Given the description of an element on the screen output the (x, y) to click on. 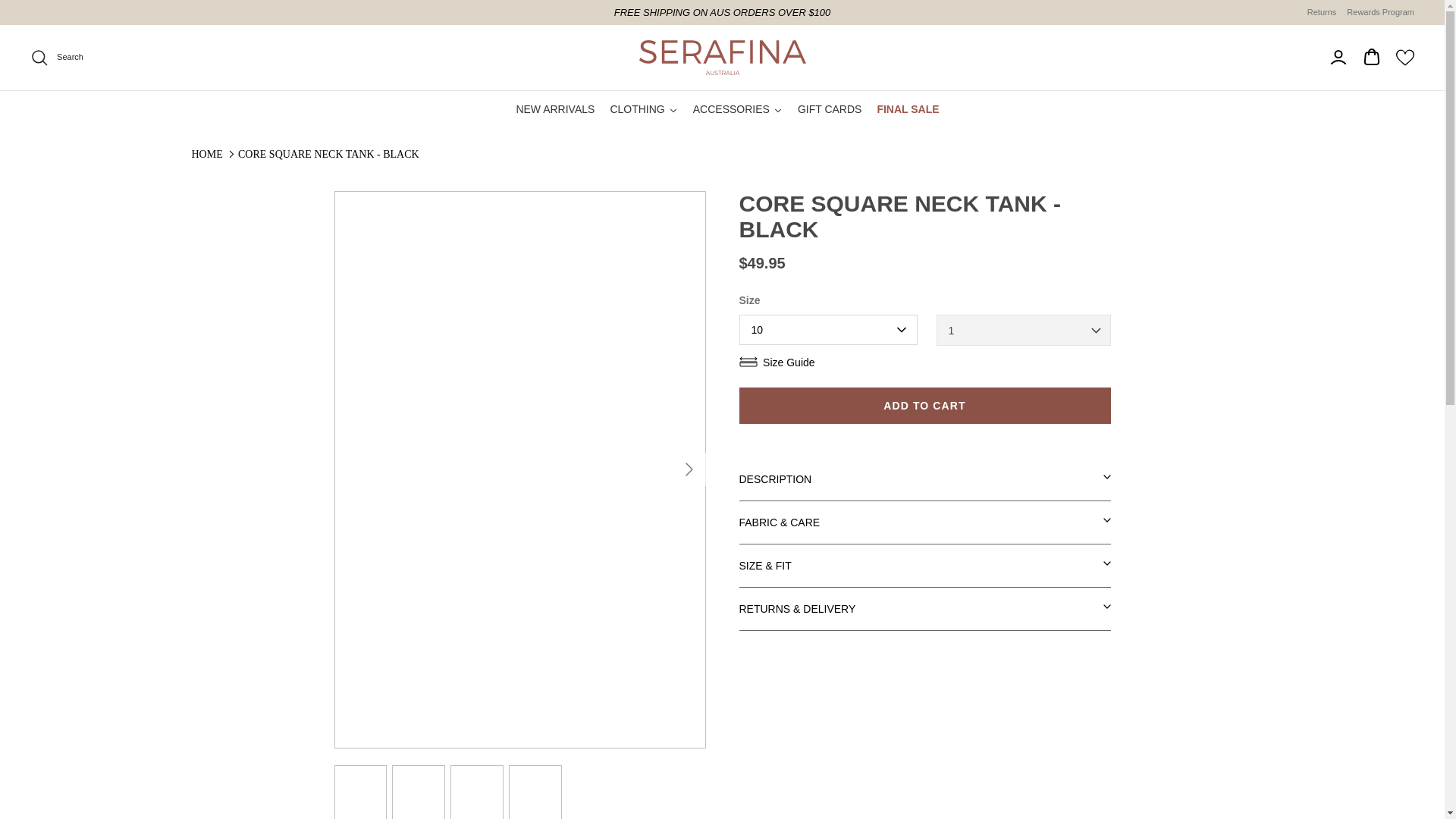
CLOTHING (643, 109)
Returns (1321, 12)
Search (56, 57)
HOME (206, 153)
FINAL SALE (907, 109)
ACCESSORIES (737, 109)
RIGHT (688, 469)
Cart (1371, 57)
NEW ARRIVALS (555, 109)
CORE SQUARE NECK TANK - BLACK (328, 153)
GIFT CARDS (829, 109)
GIFT CARDS (829, 109)
Serafina (722, 57)
Rewards Program (1379, 12)
CLOTHING (643, 109)
